Given the description of an element on the screen output the (x, y) to click on. 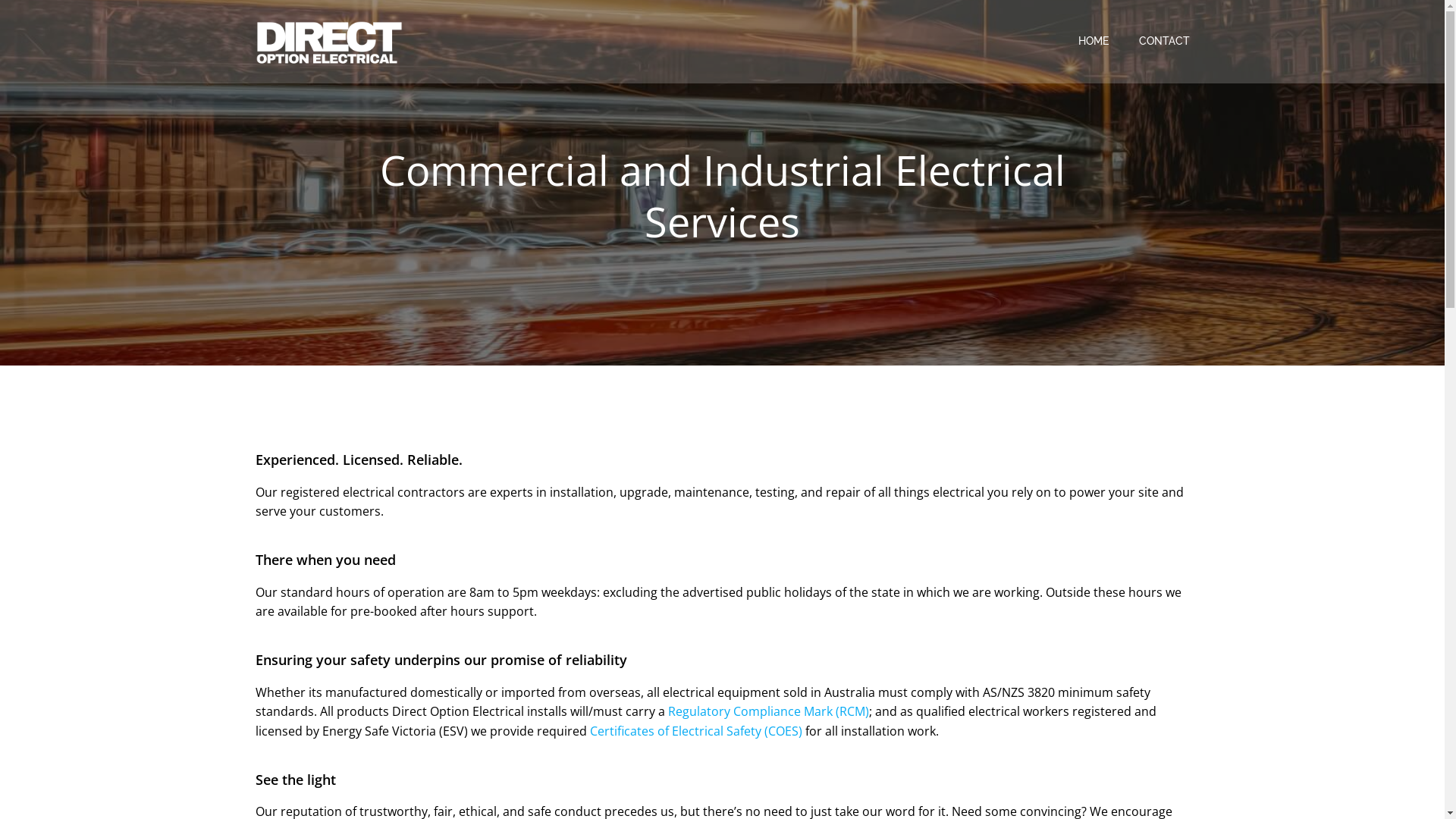
ColibriWP Theme Element type: text (820, 773)
HOME Element type: text (1093, 41)
Certificates of Electrical Safety (COES) Element type: text (695, 730)
Regulatory Compliance Mark (RCM) Element type: text (767, 710)
CONTACT Element type: text (1164, 41)
